Given the description of an element on the screen output the (x, y) to click on. 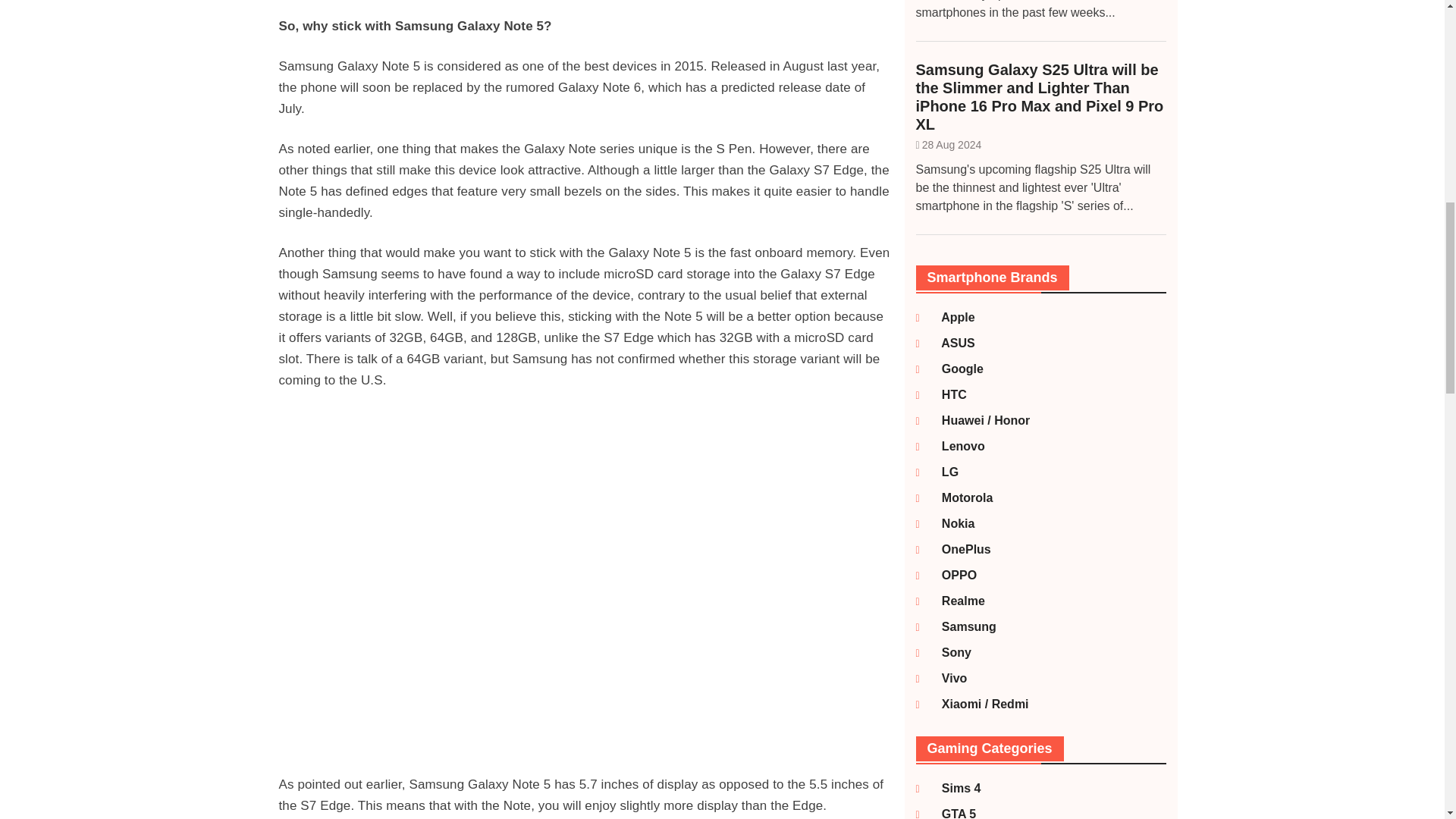
     Apple (949, 317)
     ASUS (949, 342)
